Given the description of an element on the screen output the (x, y) to click on. 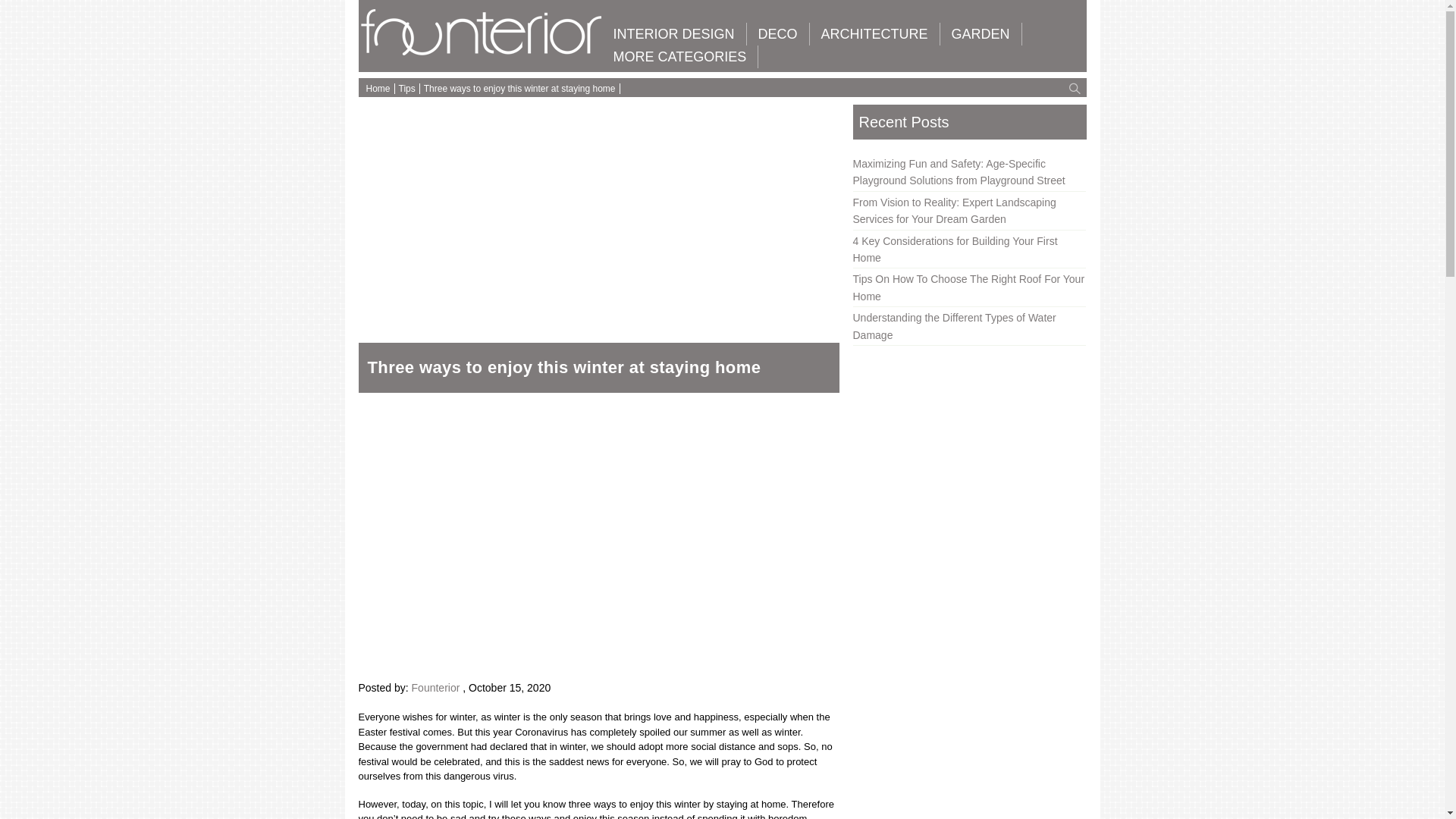
DECO (777, 33)
INTERIOR DESIGN (673, 33)
GARDEN (981, 33)
MORE CATEGORIES (680, 56)
Interior Design (673, 33)
Founterior (481, 51)
ARCHITECTURE (874, 33)
Decoration (777, 33)
Architecture (874, 33)
